Given the description of an element on the screen output the (x, y) to click on. 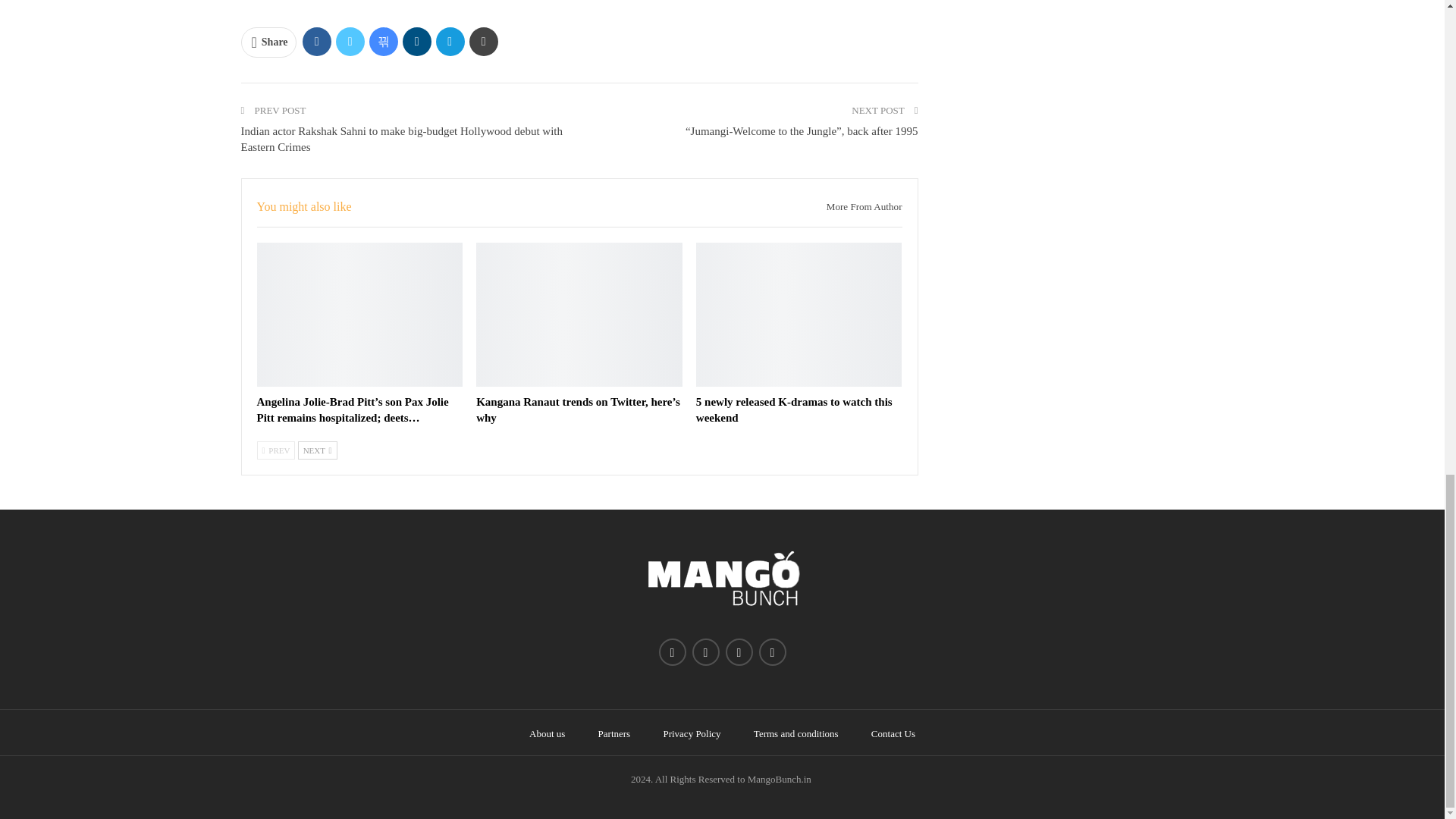
5 newly released K-dramas to watch this weekend (798, 314)
Next (317, 450)
5 newly released K-dramas to watch this weekend (793, 409)
Previous (275, 450)
